Given the description of an element on the screen output the (x, y) to click on. 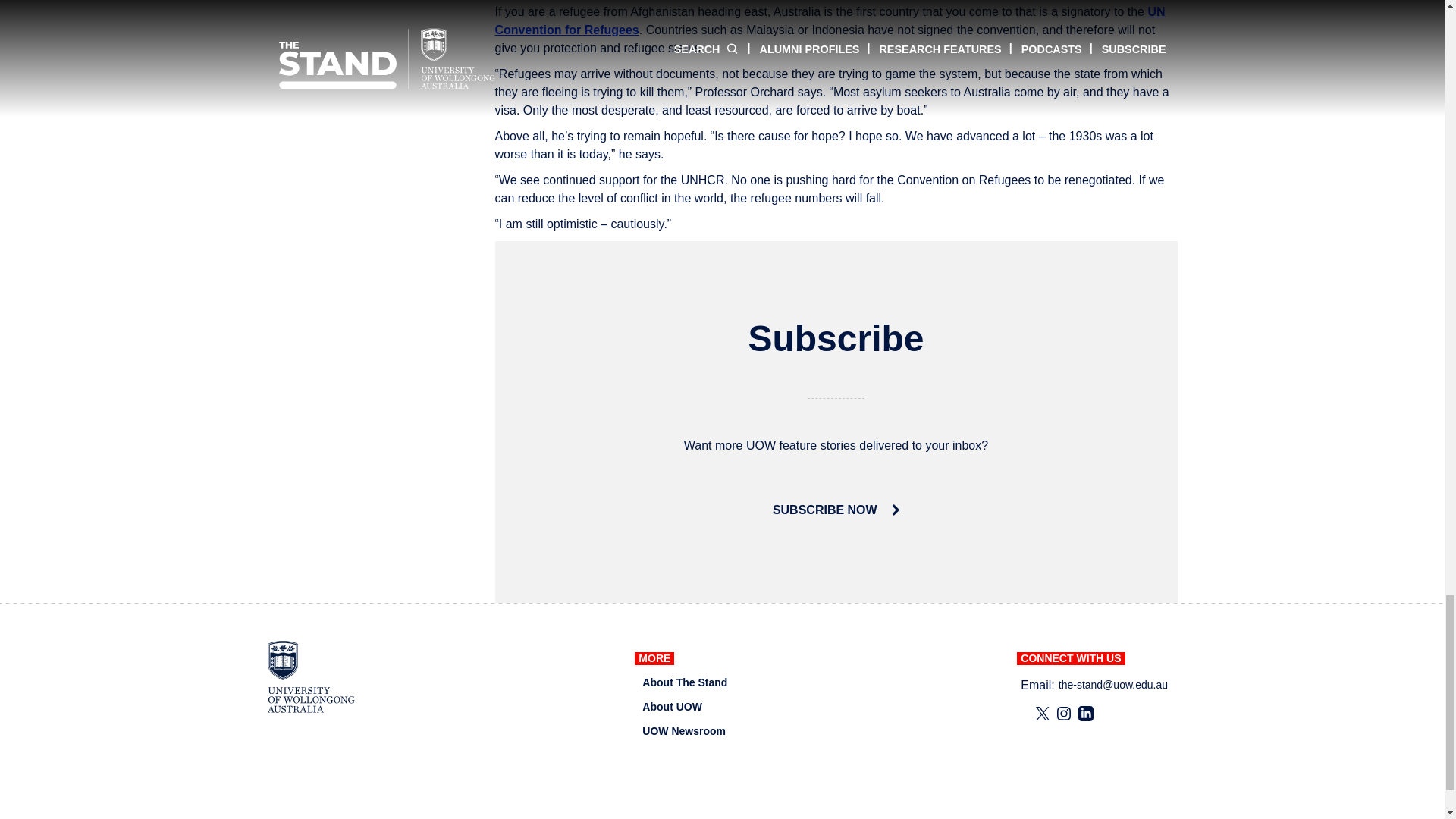
Instagram (1063, 713)
UOW Newsroom (683, 730)
About The Stand (684, 682)
LinkedIn (1085, 713)
SUBSCRIBE NOW (835, 509)
X - formerly known as twitter (1042, 713)
About UOW (671, 707)
UN Convention for Refugees (829, 20)
